Given the description of an element on the screen output the (x, y) to click on. 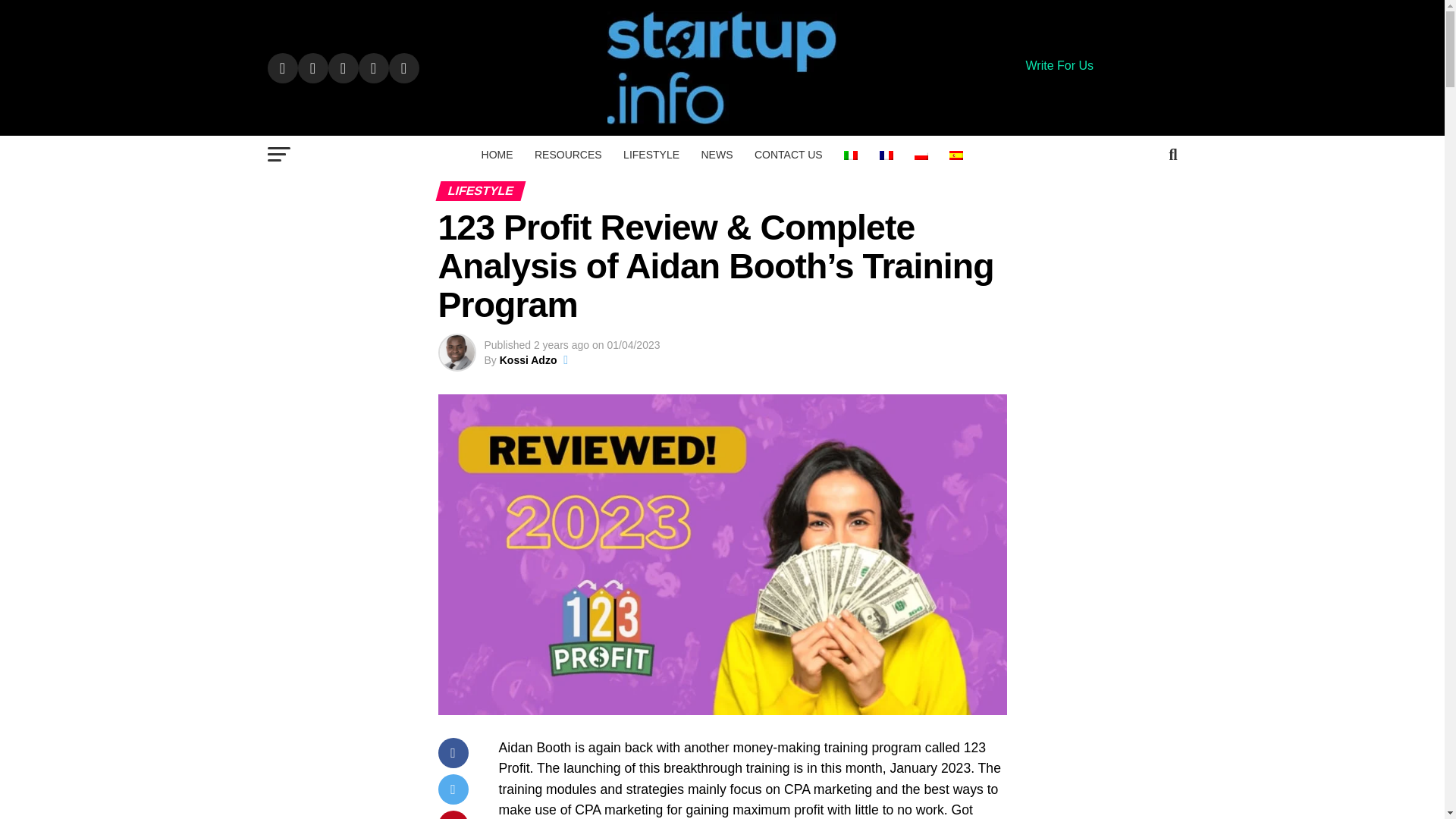
RESOURCES (568, 154)
Write For Us (1059, 65)
LIFESTYLE (651, 154)
HOME (496, 154)
NEWS (716, 154)
